Given the description of an element on the screen output the (x, y) to click on. 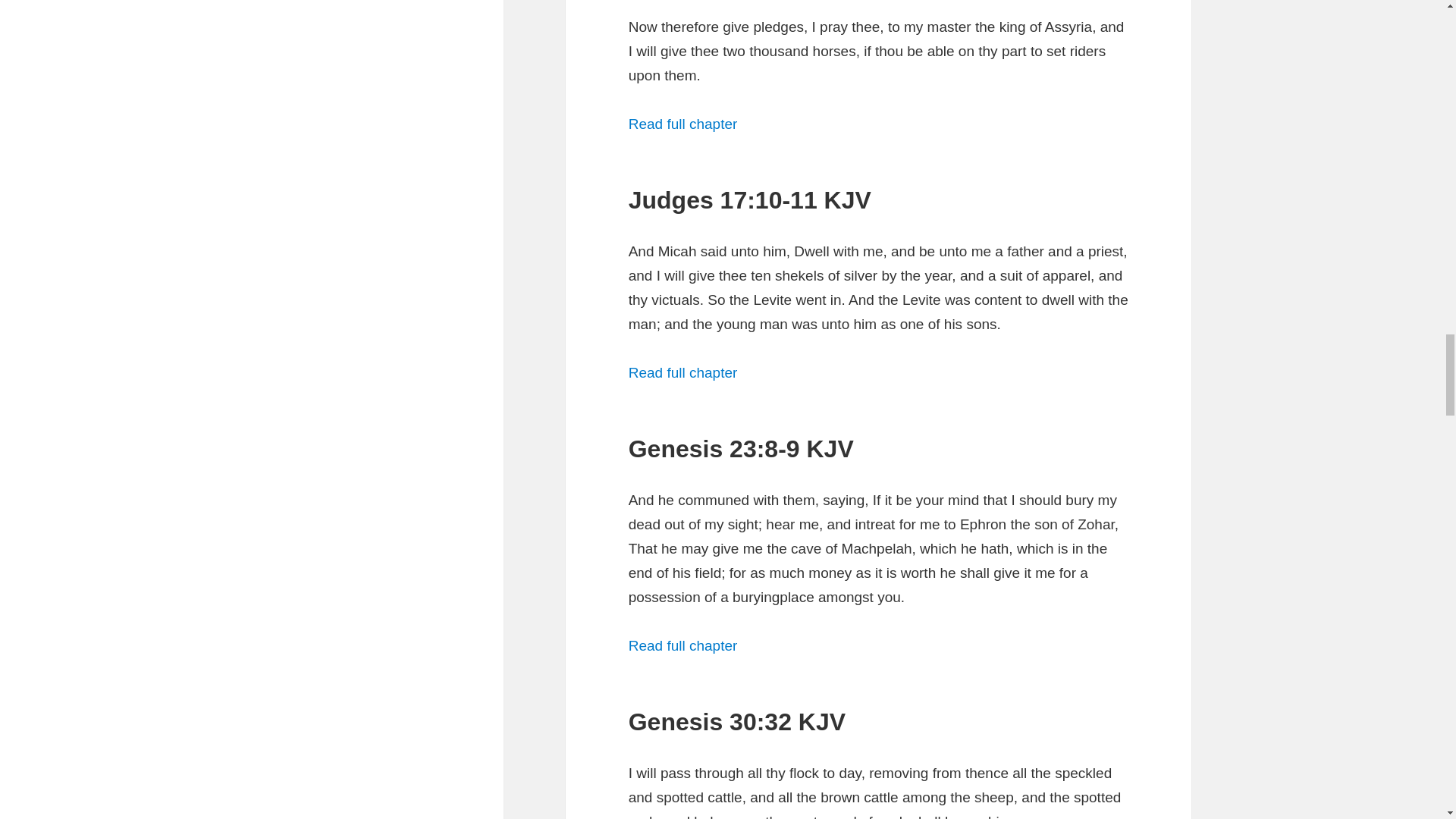
Read full chapter (683, 372)
Read full chapter (683, 123)
Read full chapter (683, 645)
